Given the description of an element on the screen output the (x, y) to click on. 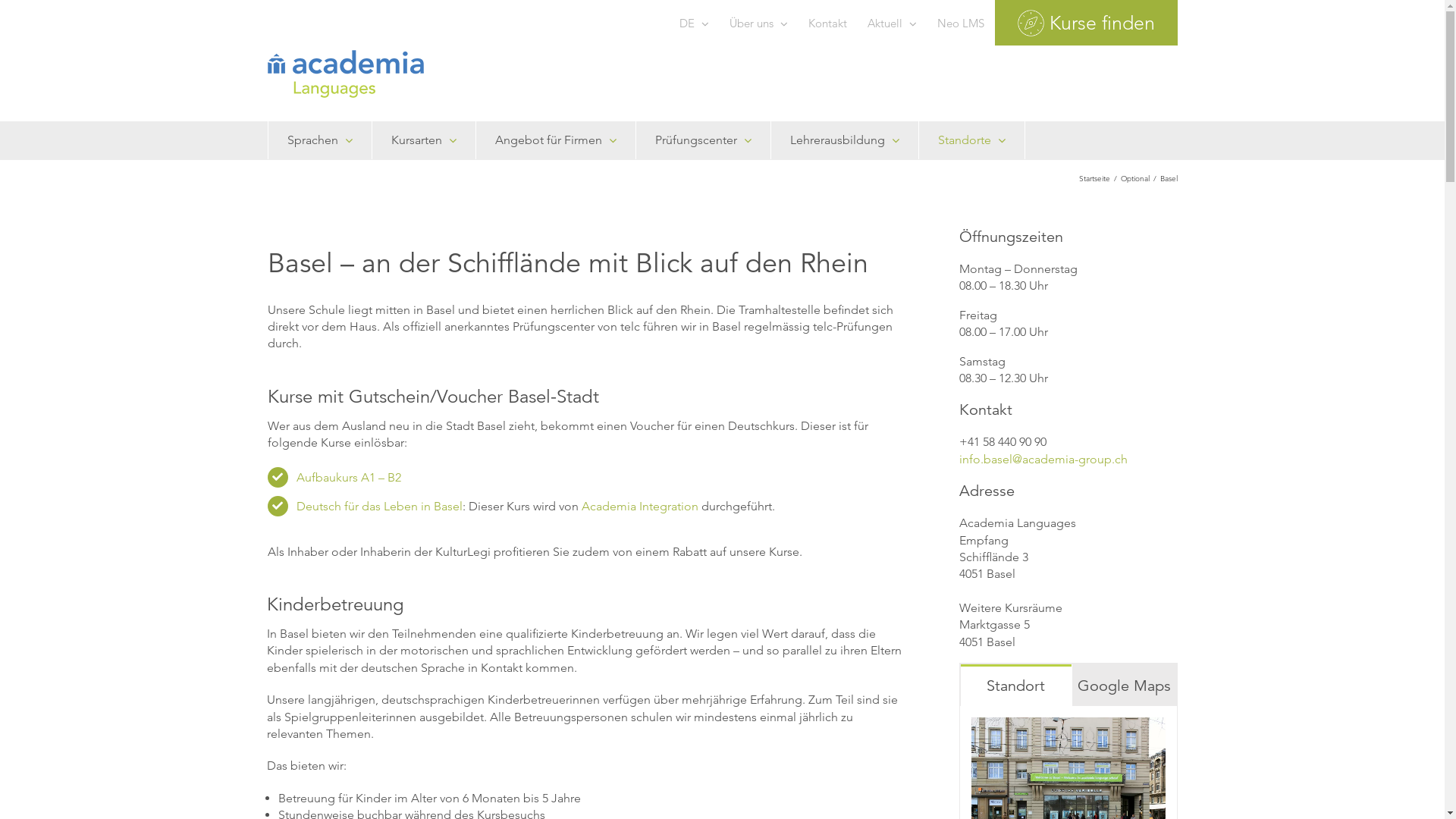
DE Element type: text (693, 22)
Standorte Element type: text (970, 140)
Standort Element type: text (1015, 685)
Aktuell Element type: text (890, 22)
Google Maps Element type: text (1124, 685)
Neo LMS Element type: text (959, 22)
Kontakt Element type: text (826, 22)
Lehrerausbildung Element type: text (844, 140)
Kurse finden Element type: text (1085, 22)
Academia Integration Element type: text (639, 505)
Optional Element type: text (1134, 177)
Startseite Element type: text (1093, 177)
Sprachen Element type: text (318, 140)
info.basel@academia-group.ch Element type: text (1042, 458)
Kursarten Element type: text (423, 140)
